Given the description of an element on the screen output the (x, y) to click on. 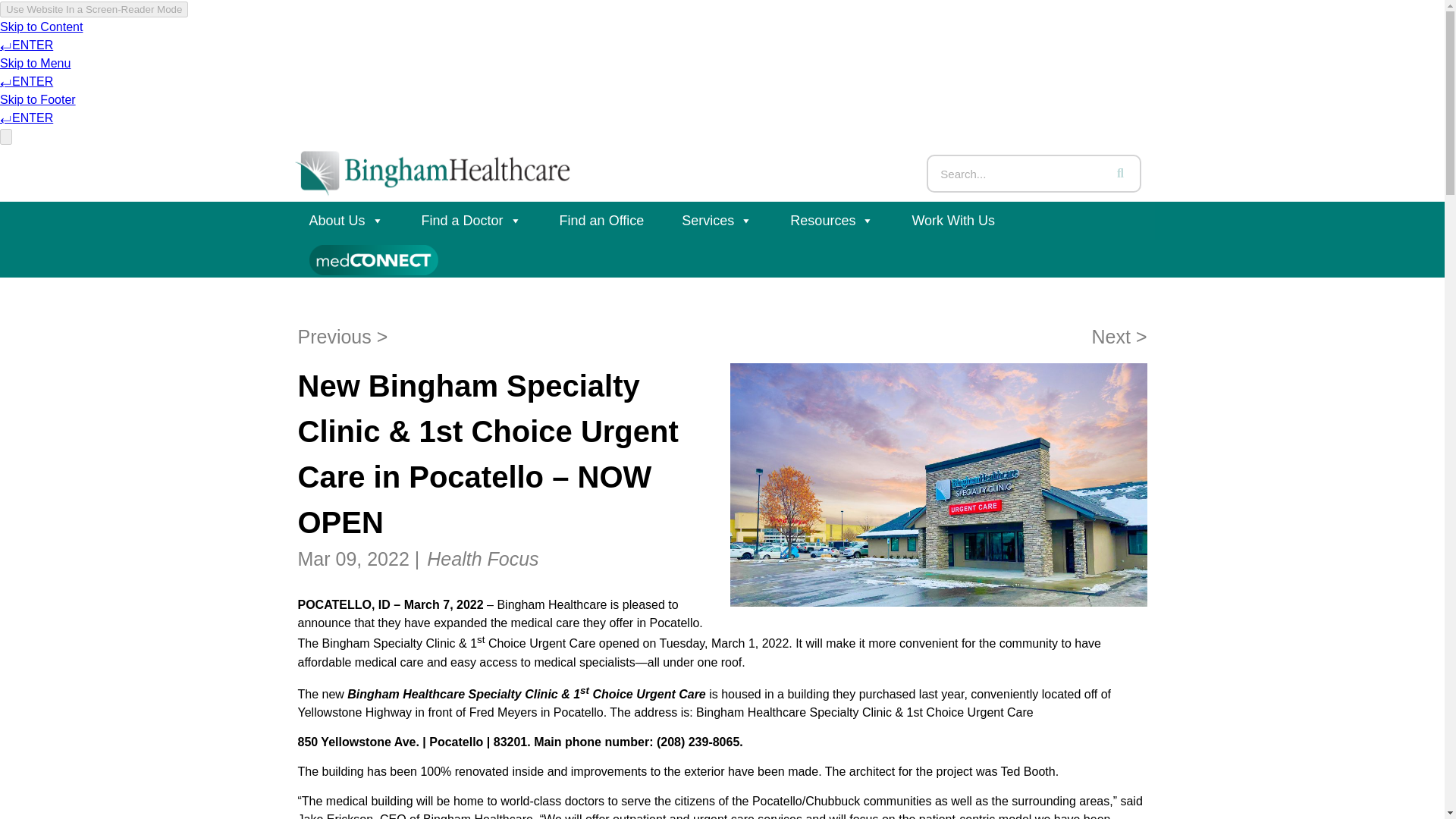
Pocatello UC building - Bingham Healthcare (938, 484)
Find an Office (601, 220)
About Us (345, 220)
Services (716, 220)
Find a Doctor (471, 220)
